Given the description of an element on the screen output the (x, y) to click on. 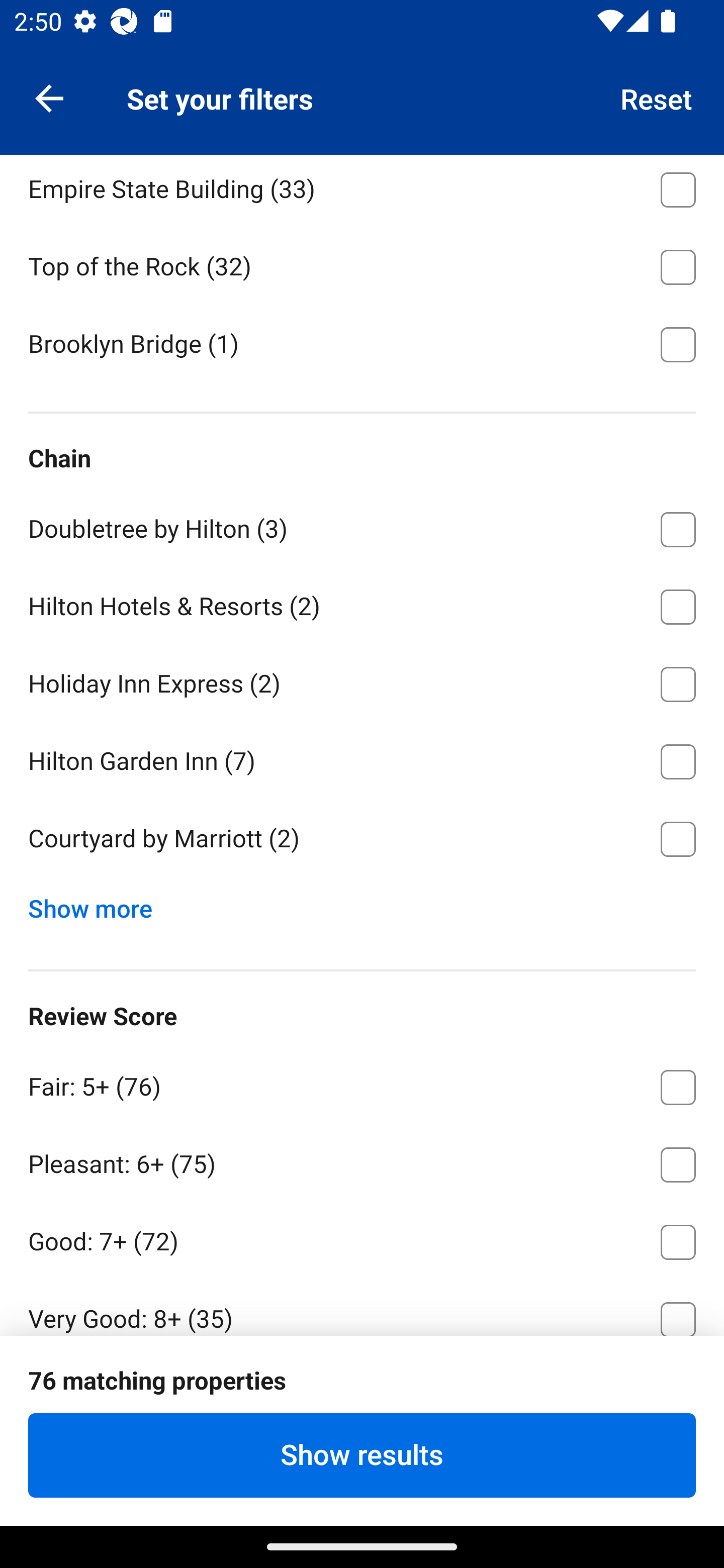
Navigate up (49, 97)
Reset (656, 97)
Central Park ⁦(7) (361, 108)
Empire State Building ⁦(33) (361, 190)
Top of the Rock ⁦(32) (361, 263)
Brooklyn Bridge ⁦(1) (361, 343)
Doubletree by Hilton ⁦(3) (361, 525)
Hilton Hotels & Resorts ⁦(2) (361, 603)
Holiday Inn Express ⁦(2) (361, 680)
Hilton Garden Inn ⁦(7) (361, 757)
Courtyard by Marriott ⁦(2) (361, 838)
Show more (97, 903)
Fair: 5+ ⁦(76) (361, 1083)
Pleasant: 6+ ⁦(75) (361, 1160)
Good: 7+ ⁦(72) (361, 1238)
Very Good: 8+ ⁦(35) (361, 1306)
Show results (361, 1454)
